Given the description of an element on the screen output the (x, y) to click on. 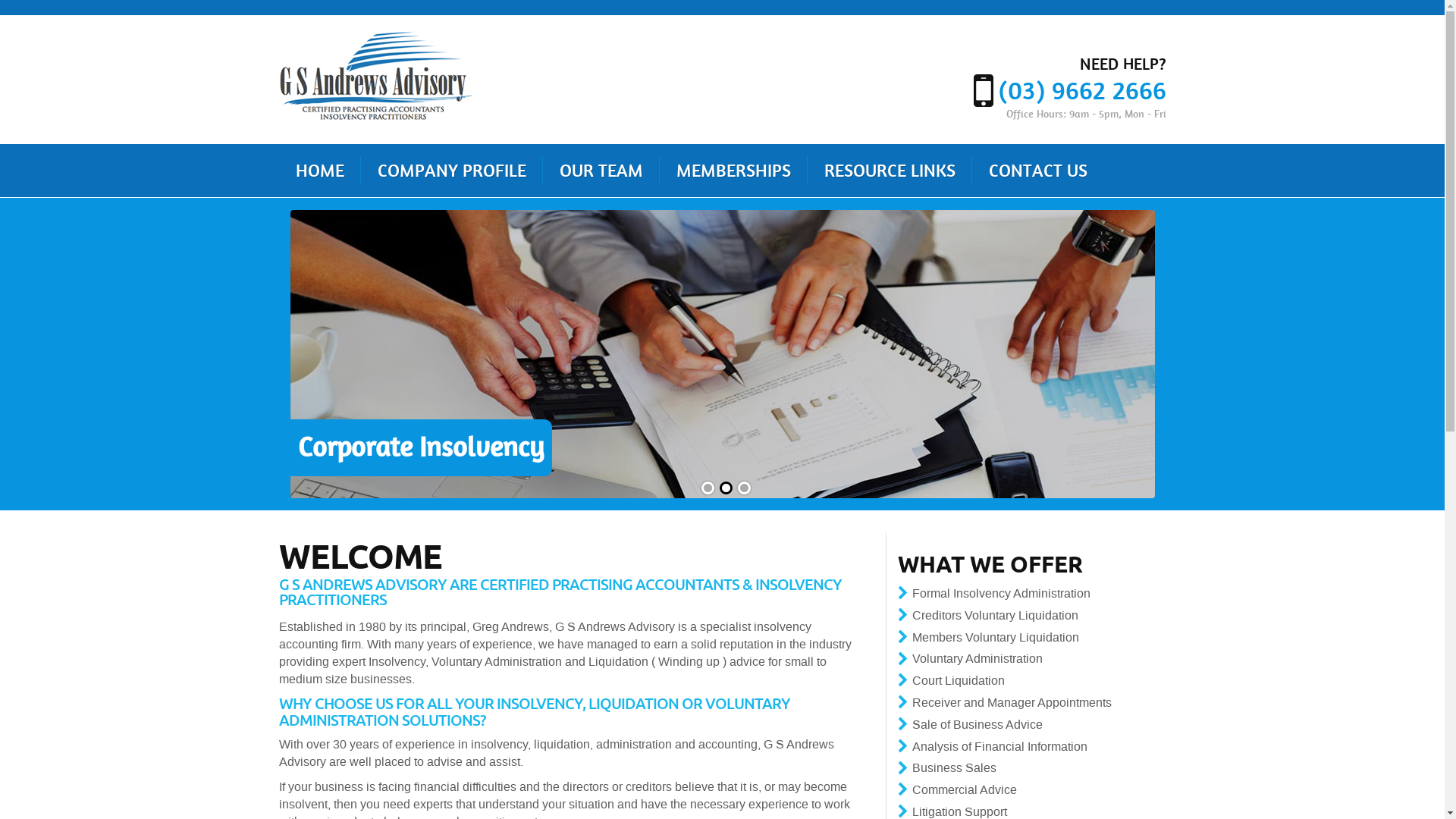
COMPANY PROFILE Element type: text (451, 170)
slide1 Element type: hover (707, 487)
HOME Element type: text (319, 170)
Corporate Insolvency Element type: hover (721, 354)
CONTACT US Element type: text (1038, 170)
slide2 Element type: hover (725, 487)
OUR TEAM Element type: text (601, 170)
slide3 Element type: hover (743, 487)
MEMBERSHIPS Element type: text (733, 170)
(03) 9662 2666 Element type: text (1069, 90)
RESOURCE LINKS Element type: text (888, 170)
